Given the description of an element on the screen output the (x, y) to click on. 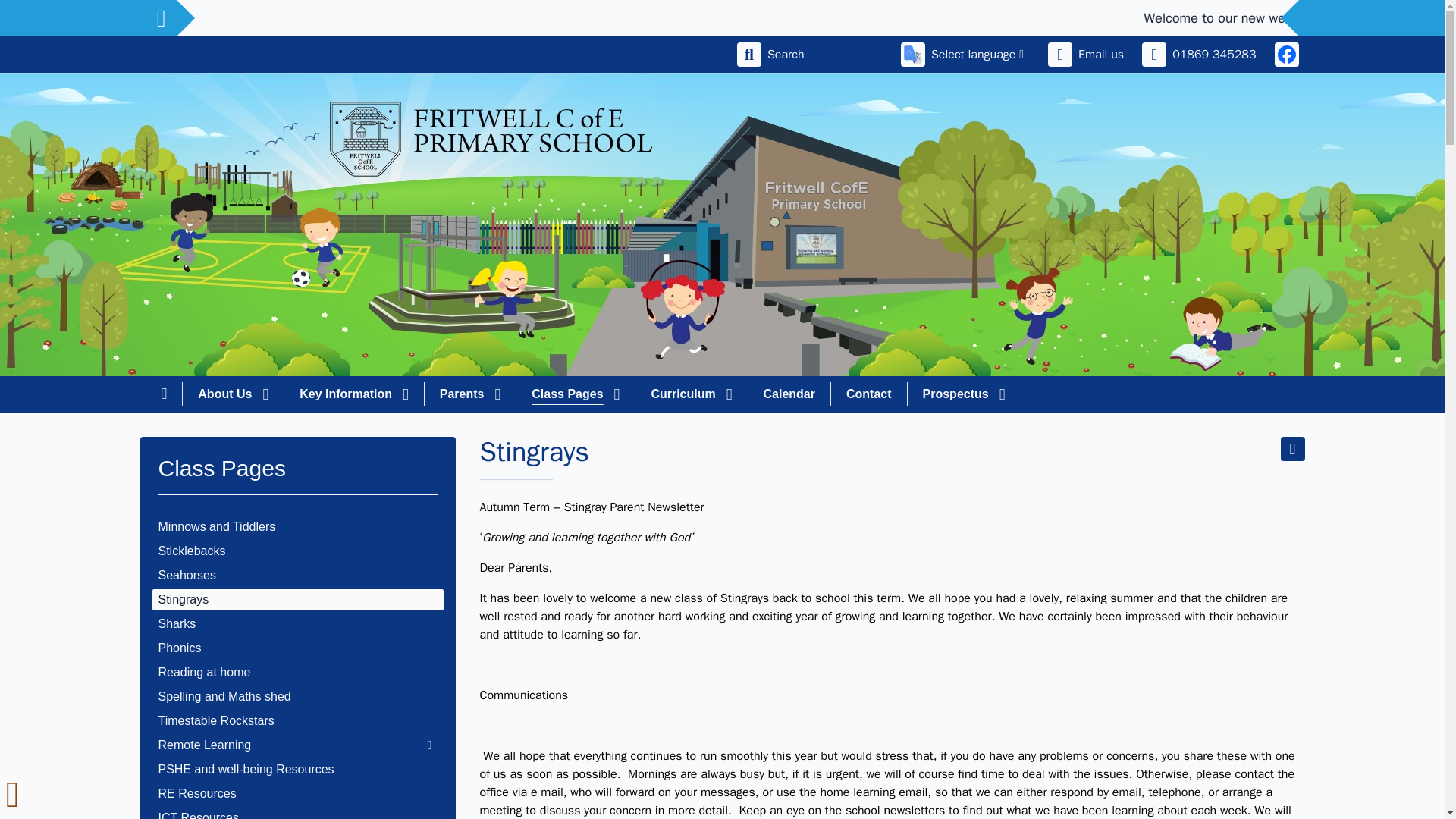
Select language (962, 54)
Email us (1086, 54)
01869 345283 (1198, 54)
